Given the description of an element on the screen output the (x, y) to click on. 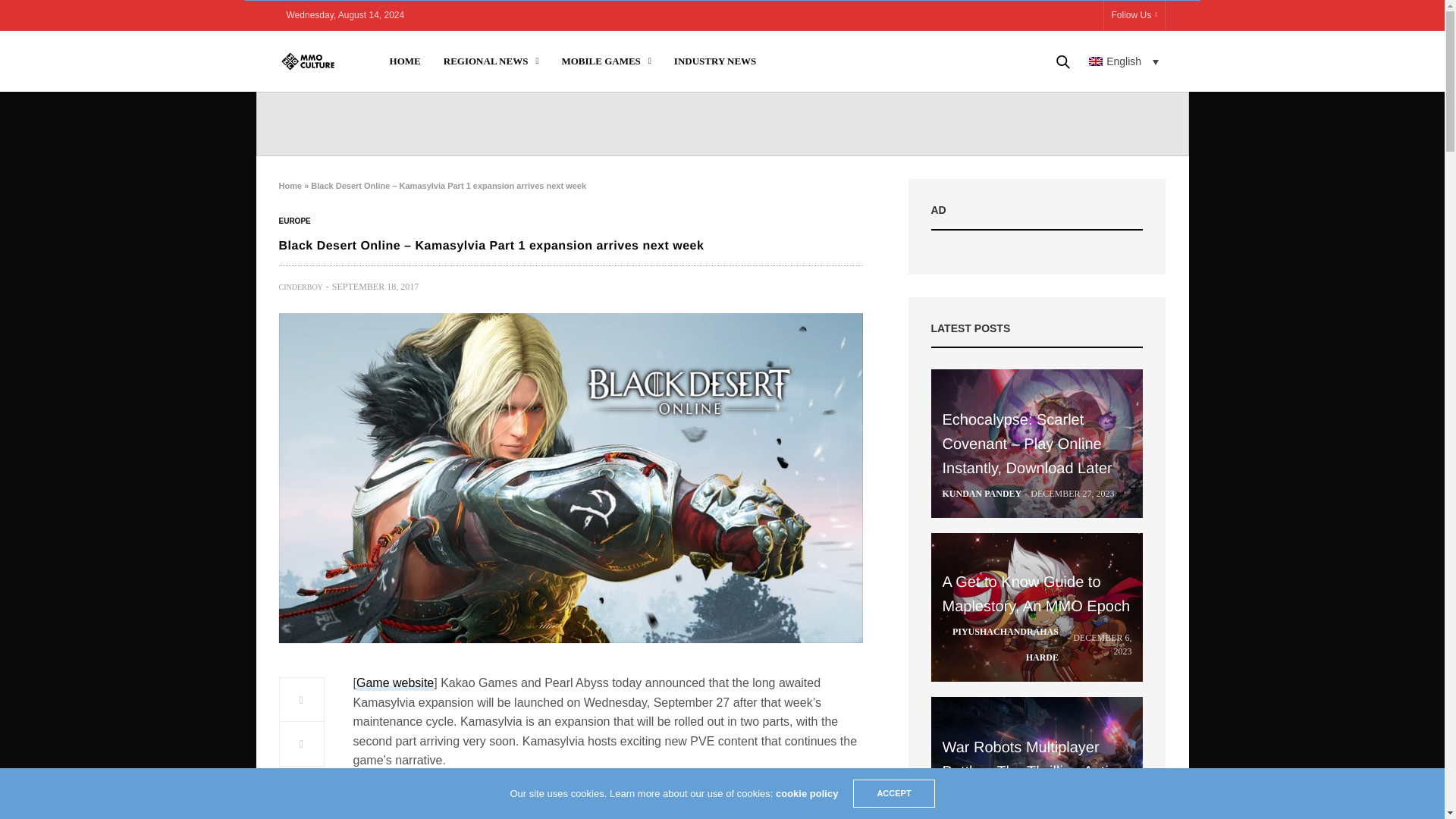
REGIONAL NEWS (491, 61)
Search (1041, 112)
INDUSTRY NEWS (715, 61)
Posts by cinderboy (301, 287)
Follow Us (1134, 15)
Europe (295, 221)
Posts by kundan pandey (982, 493)
HOME (405, 61)
English (1123, 61)
